Given the description of an element on the screen output the (x, y) to click on. 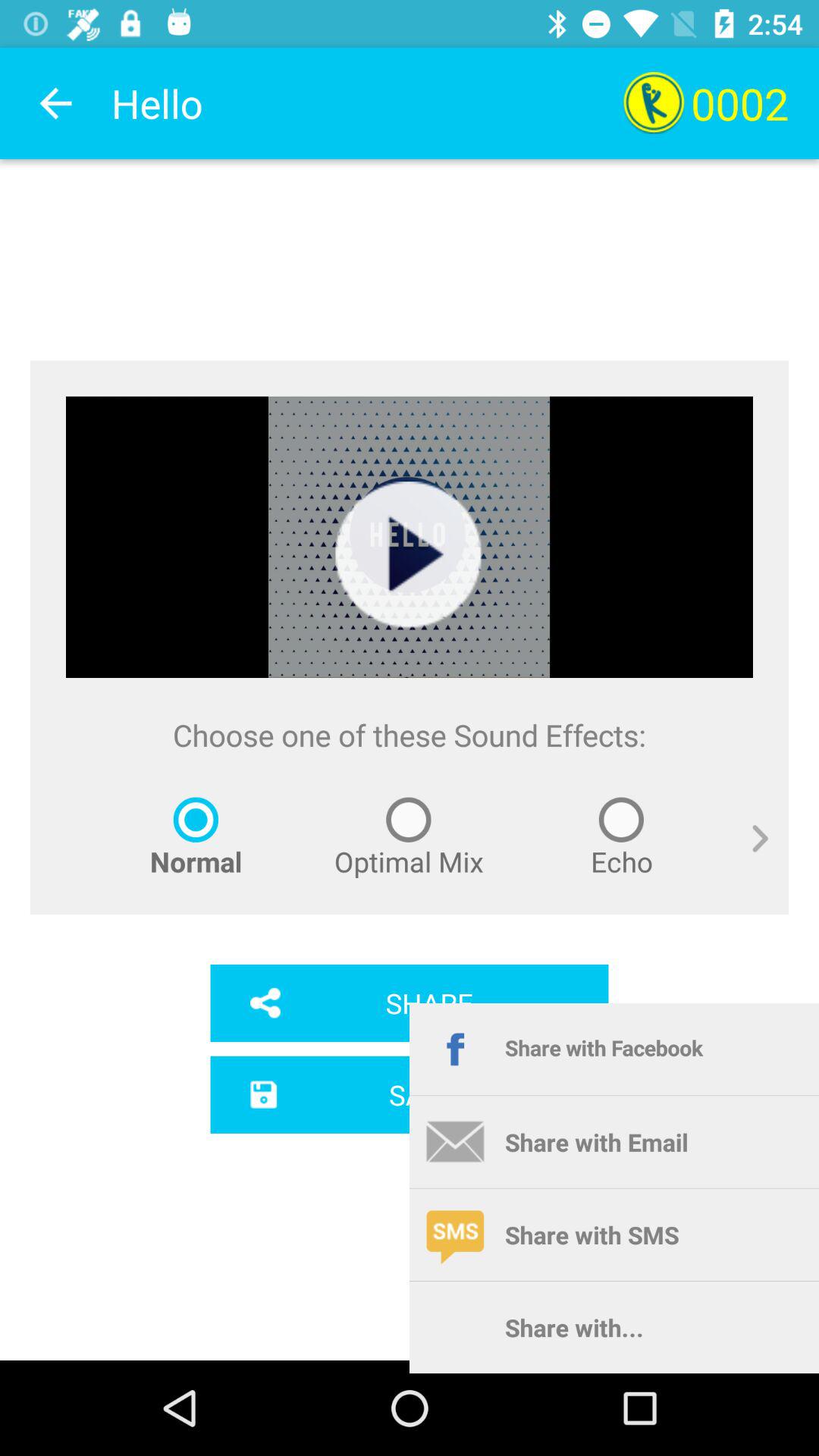
open app below the share icon (409, 1094)
